Given the description of an element on the screen output the (x, y) to click on. 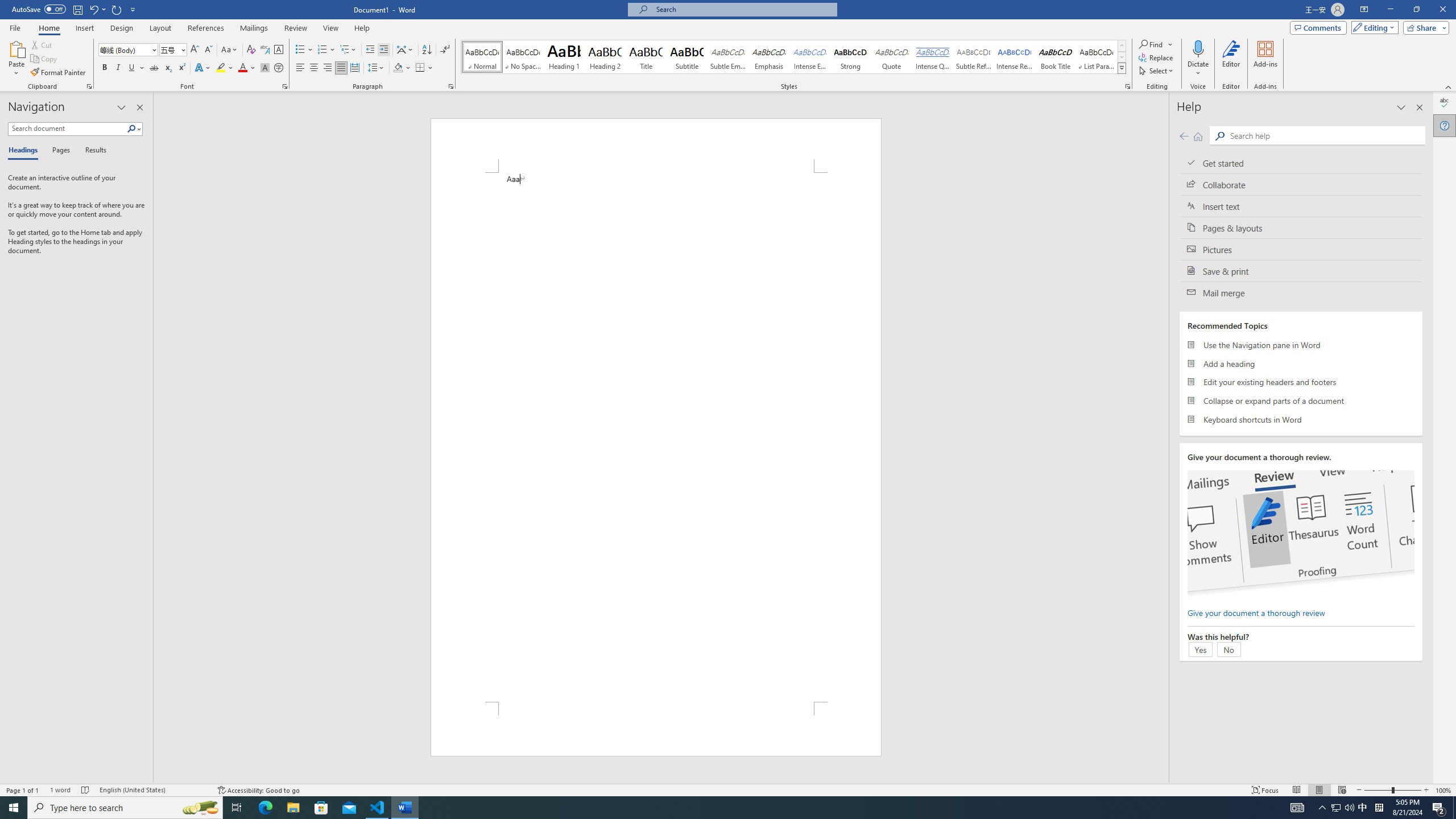
Pictures (1300, 249)
